Given the description of an element on the screen output the (x, y) to click on. 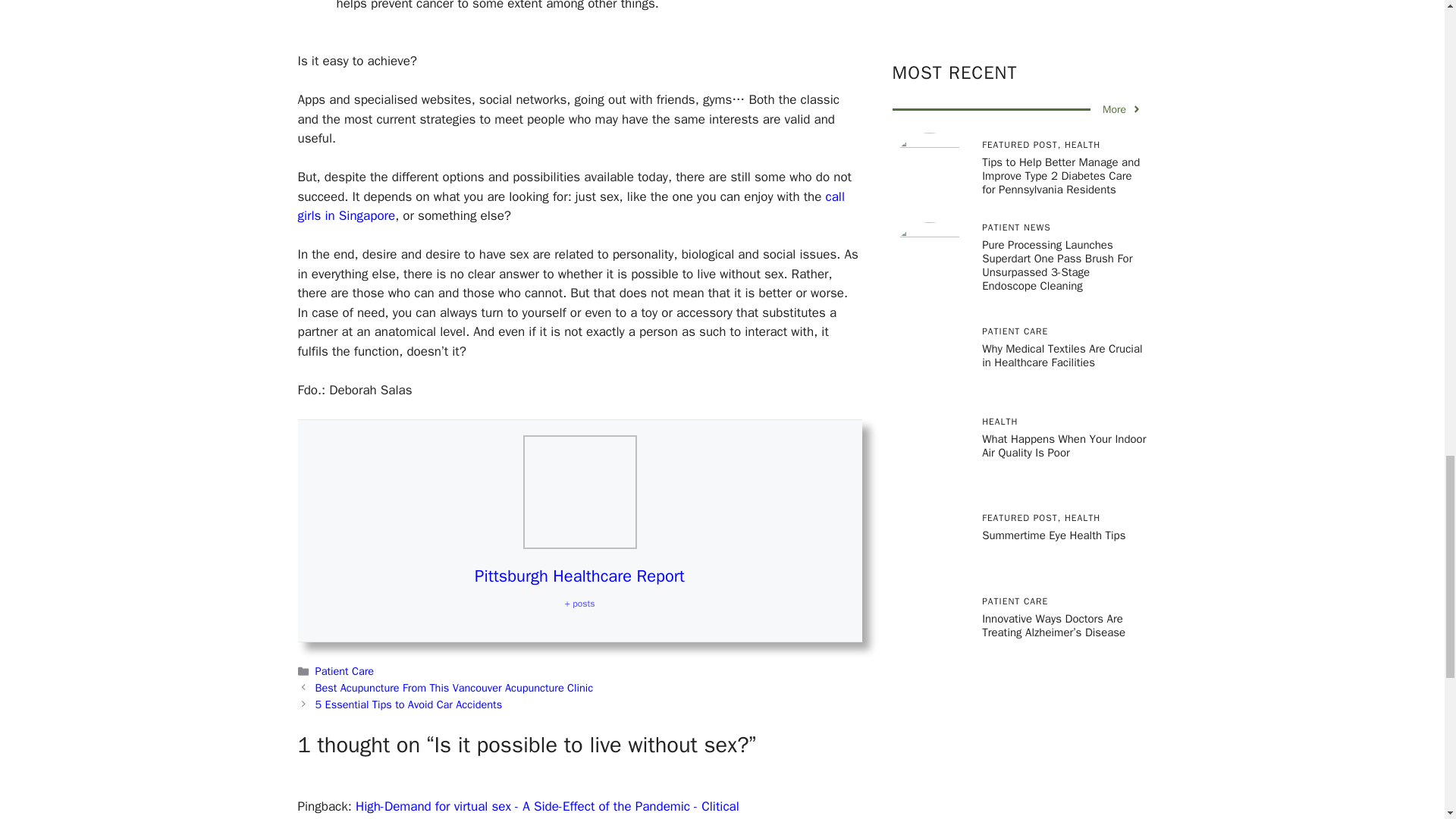
Patient Care (344, 671)
call girls in Singapore (570, 206)
Pittsburgh Healthcare Report (579, 576)
Best Acupuncture From This Vancouver Acupuncture Clinic (453, 687)
Is it possible to live without sex? 3 (579, 491)
5 Essential Tips to Avoid Car Accidents (408, 704)
